Given the description of an element on the screen output the (x, y) to click on. 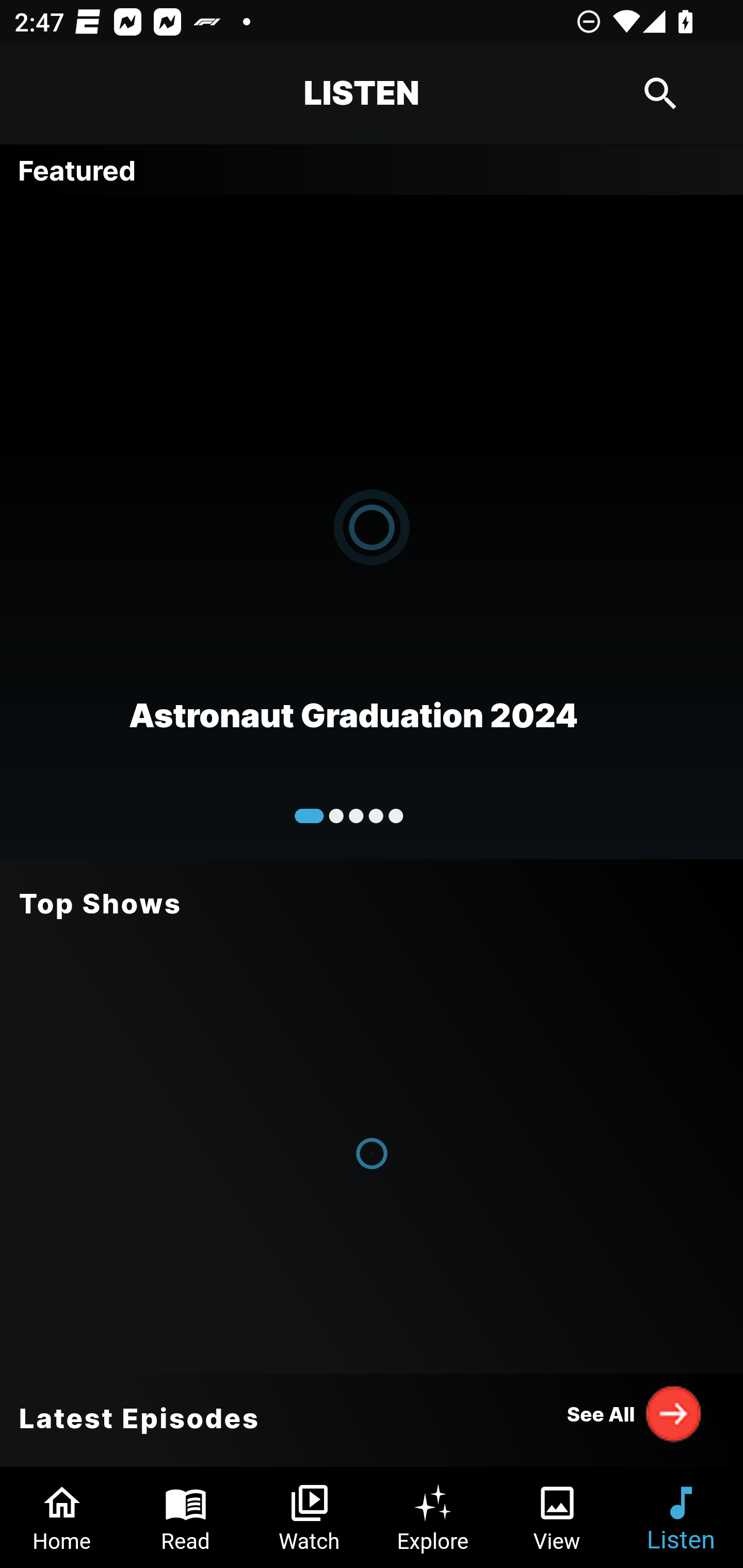
Astronaut Graduation 2024 (371, 526)
See All (634, 1413)
Home
Tab 1 of 6 (62, 1517)
Read
Tab 2 of 6 (185, 1517)
Watch
Tab 3 of 6 (309, 1517)
Explore
Tab 4 of 6 (433, 1517)
View
Tab 5 of 6 (556, 1517)
Listen
Tab 6 of 6 (680, 1517)
